Given the description of an element on the screen output the (x, y) to click on. 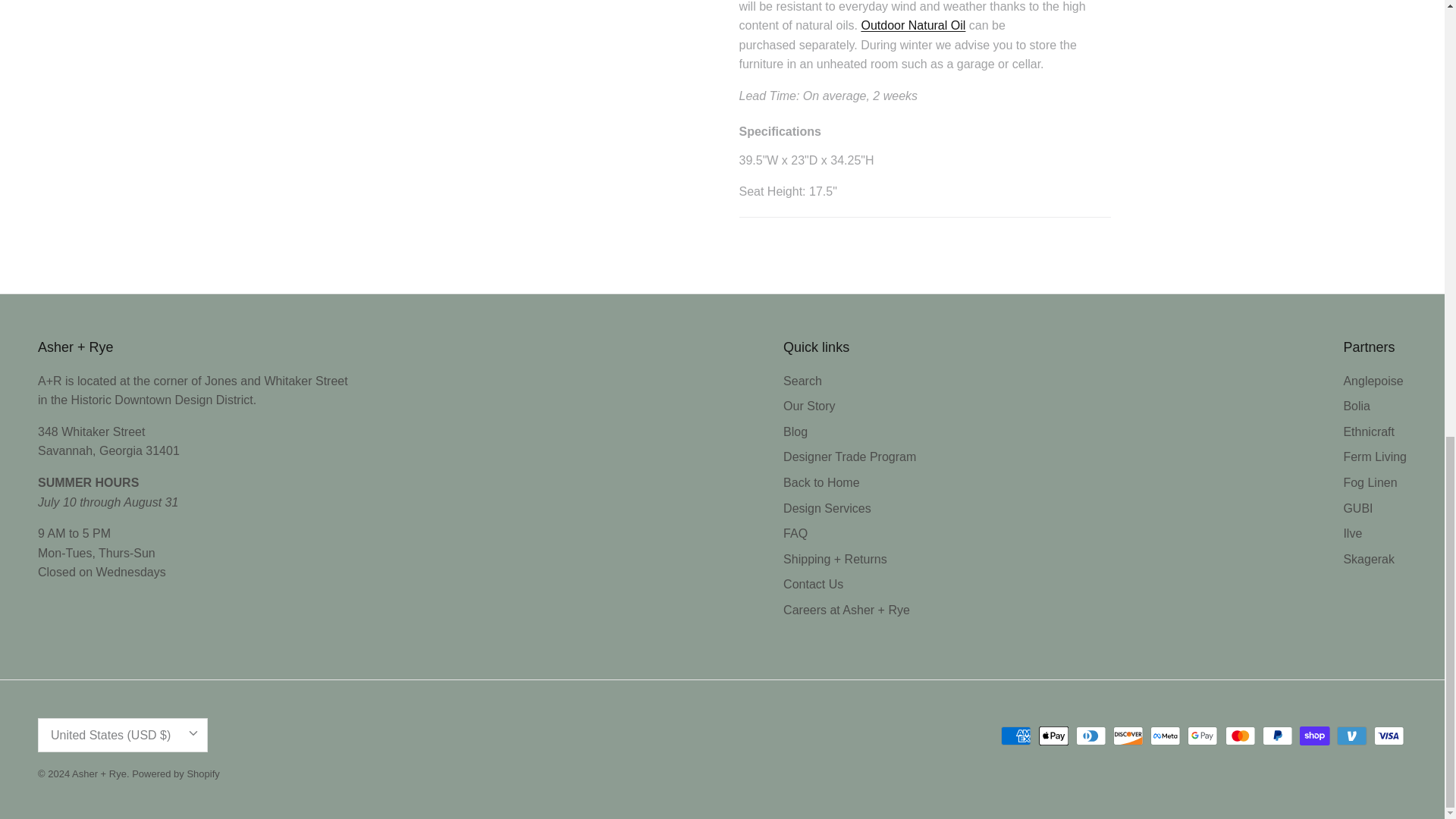
Shop Pay (1314, 735)
Cura Outdoor Oil, Nature (912, 24)
PayPal (1277, 735)
Google Pay (1202, 735)
Discover (1127, 735)
Mastercard (1240, 735)
Down (193, 733)
Meta Pay (1165, 735)
Diners Club (1090, 735)
Visa (1388, 735)
